Given the description of an element on the screen output the (x, y) to click on. 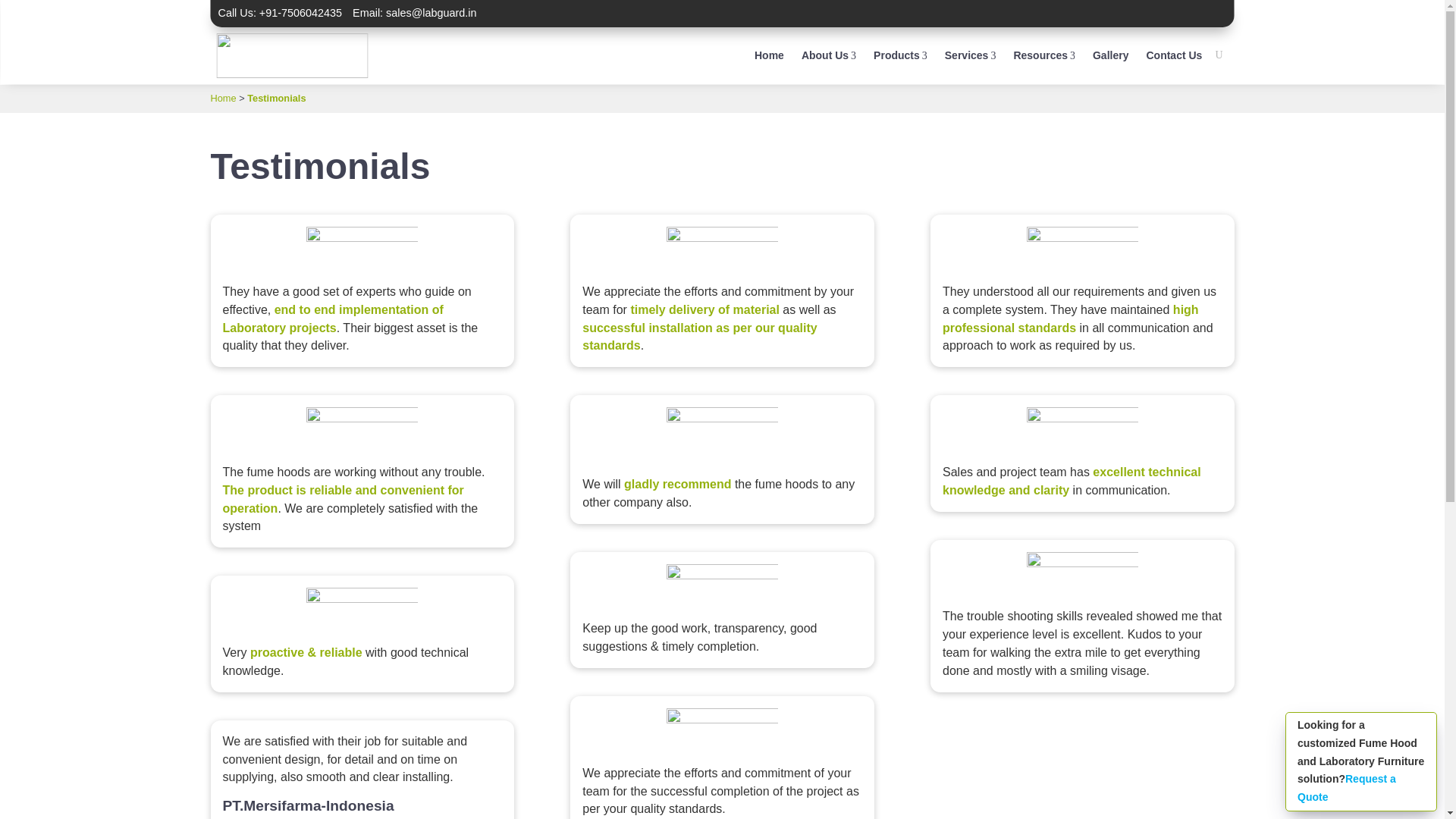
Gallery (900, 55)
Contact Us (1110, 55)
Home (829, 55)
